Given the description of an element on the screen output the (x, y) to click on. 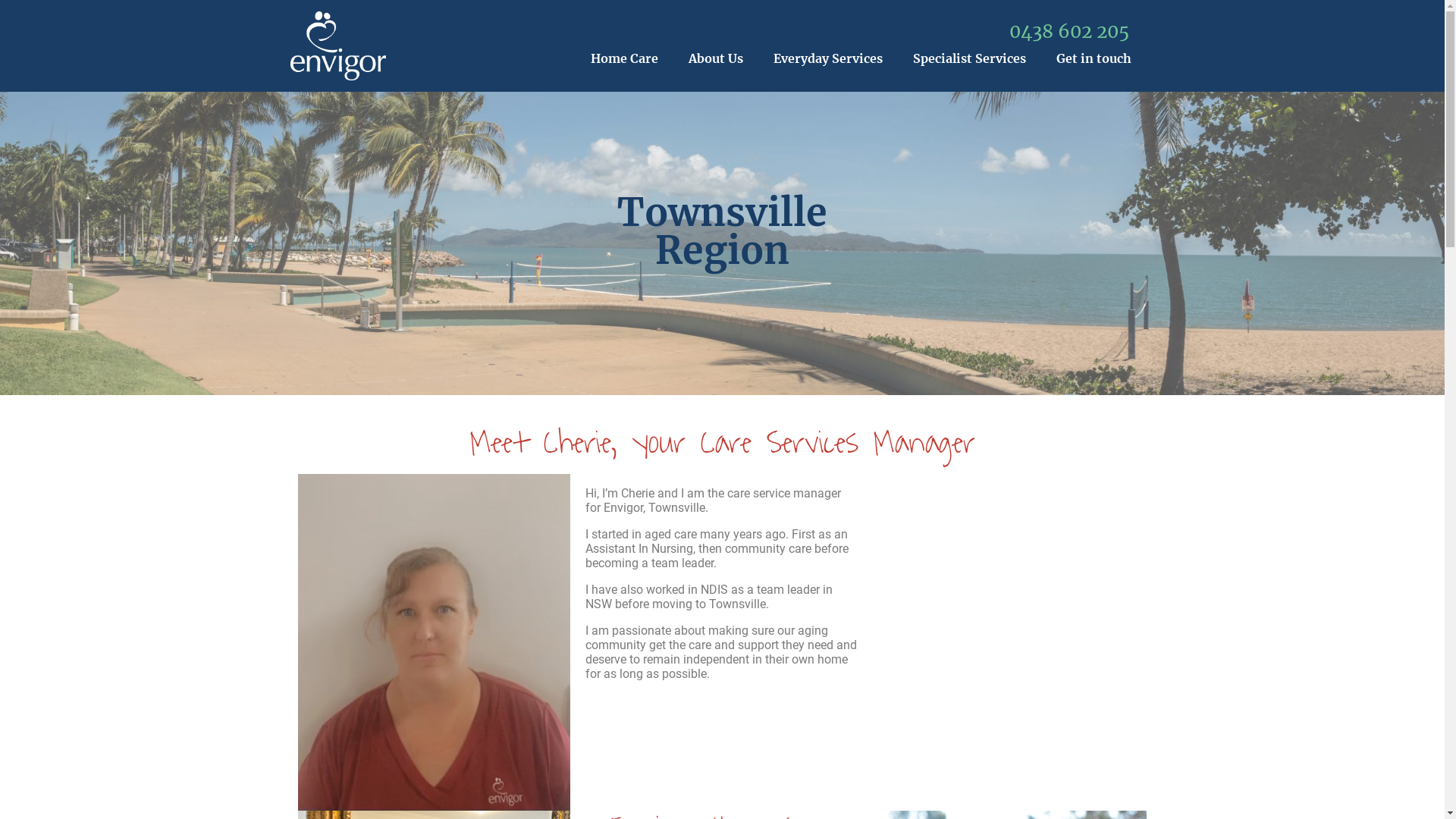
Everyday Services Element type: text (827, 57)
0438 602 205 Element type: text (1069, 31)
Home Care Element type: text (624, 57)
Get in touch Element type: text (1093, 57)
About Us Element type: text (715, 57)
Specialist Services Element type: text (969, 57)
